Given the description of an element on the screen output the (x, y) to click on. 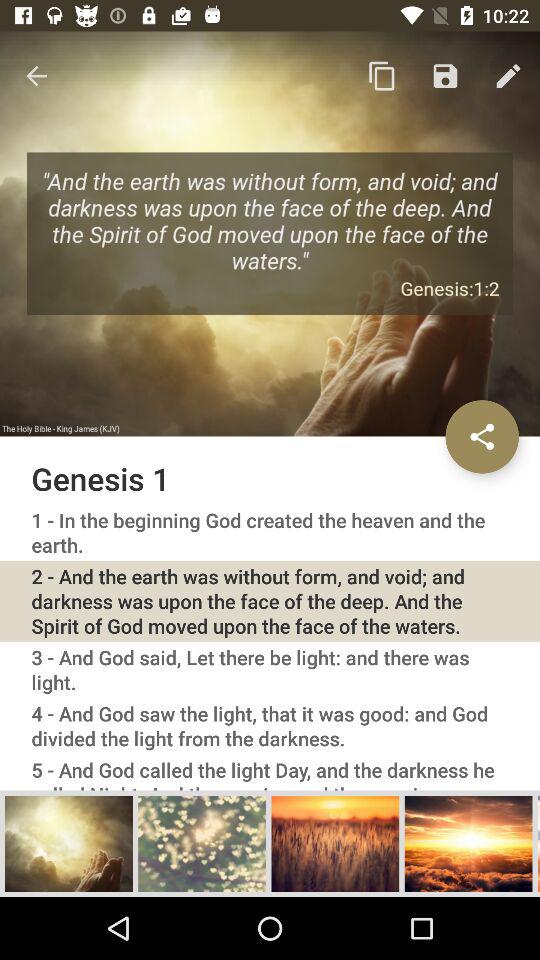
view image larger (202, 843)
